Given the description of an element on the screen output the (x, y) to click on. 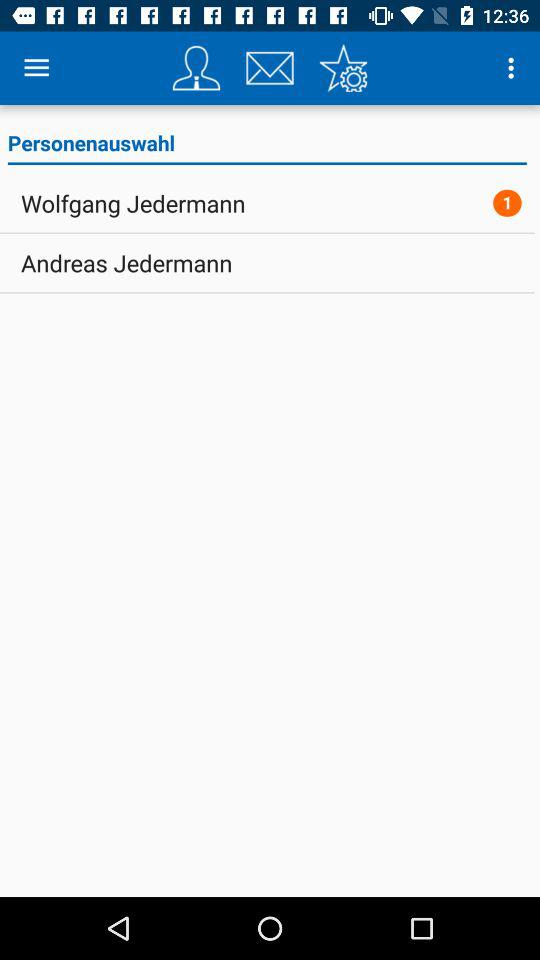
open settings (343, 67)
